Given the description of an element on the screen output the (x, y) to click on. 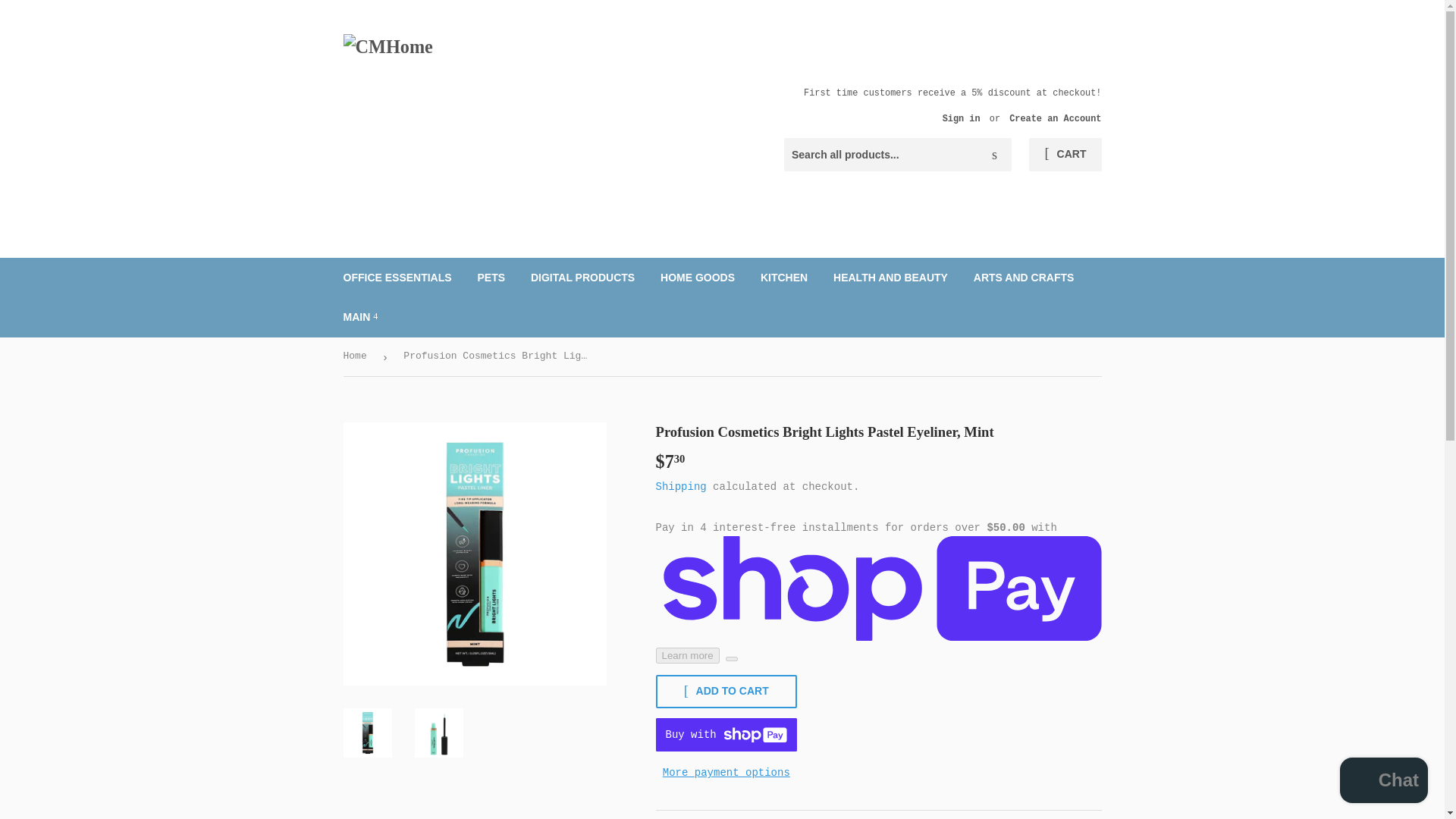
HEALTH AND BEAUTY (890, 277)
MAIN (360, 316)
OFFICE ESSENTIALS (397, 277)
Shipping (680, 486)
ARTS AND CRAFTS (1023, 277)
Shopify online store chat (1383, 781)
CART (1064, 154)
More payment options (725, 772)
KITCHEN (783, 277)
ADD TO CART (725, 691)
